Given the description of an element on the screen output the (x, y) to click on. 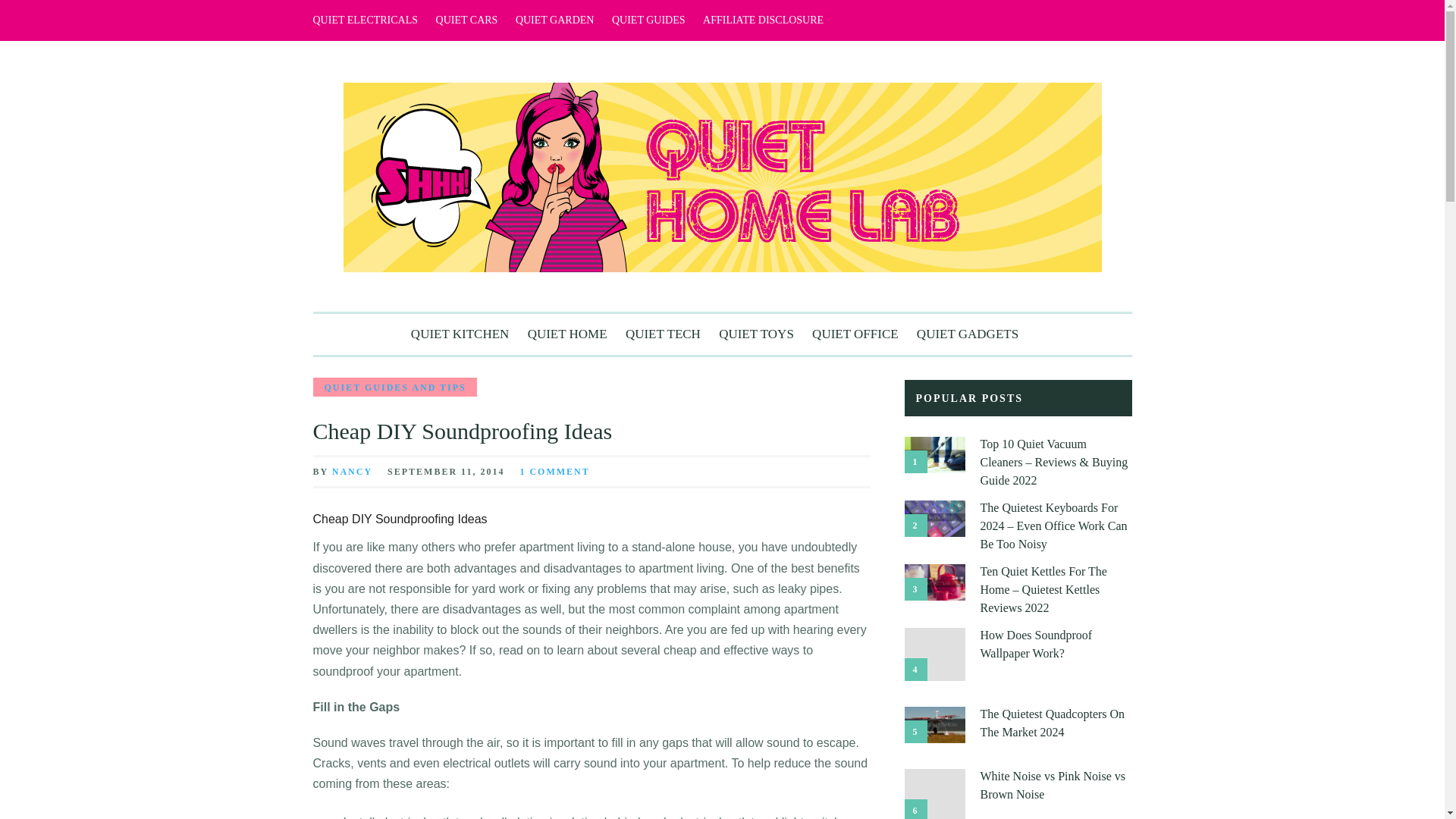
QUIET TECH (663, 333)
1 COMMENT (554, 471)
QUIET GADGETS (967, 333)
QUIET OFFICE (855, 333)
QUIET GUIDES (648, 20)
QUIET CARS (466, 20)
QUIET ELECTRICALS (365, 20)
NANCY (351, 471)
QUIET GARDEN (554, 20)
View all posts in Quiet Guides and Tips (394, 386)
